Given the description of an element on the screen output the (x, y) to click on. 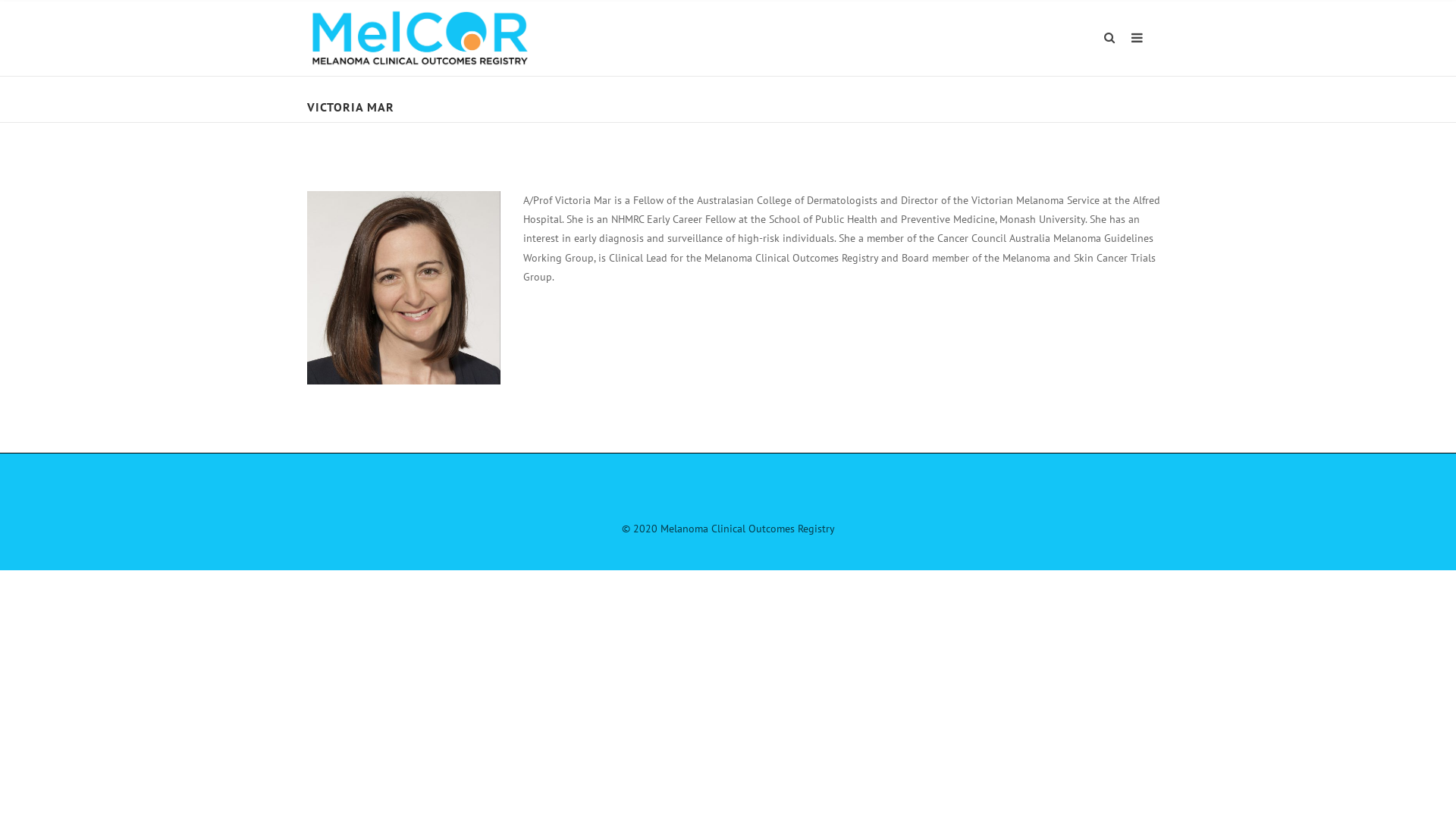
Melanoma Clinical Outcomes Registry Element type: hover (420, 37)
